Given the description of an element on the screen output the (x, y) to click on. 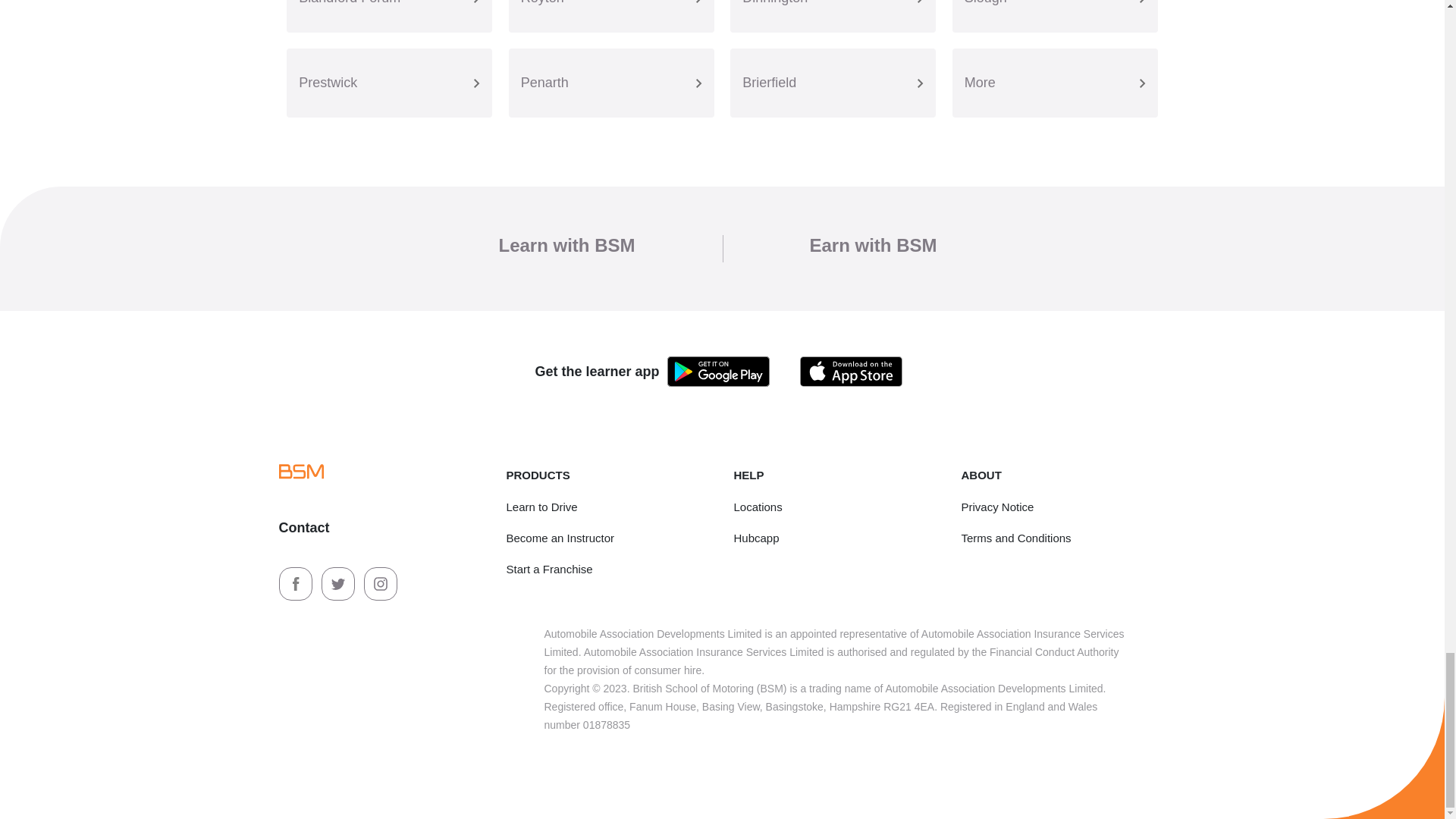
Download our app at Google Play (718, 370)
Earn with BSM (873, 245)
Learn with BSM (565, 245)
Contact (304, 527)
Download our app at the Apple app store (850, 370)
Royton (611, 16)
Facebook (297, 582)
More (1054, 82)
Penarth (611, 82)
Blandford Forum (389, 16)
